Given the description of an element on the screen output the (x, y) to click on. 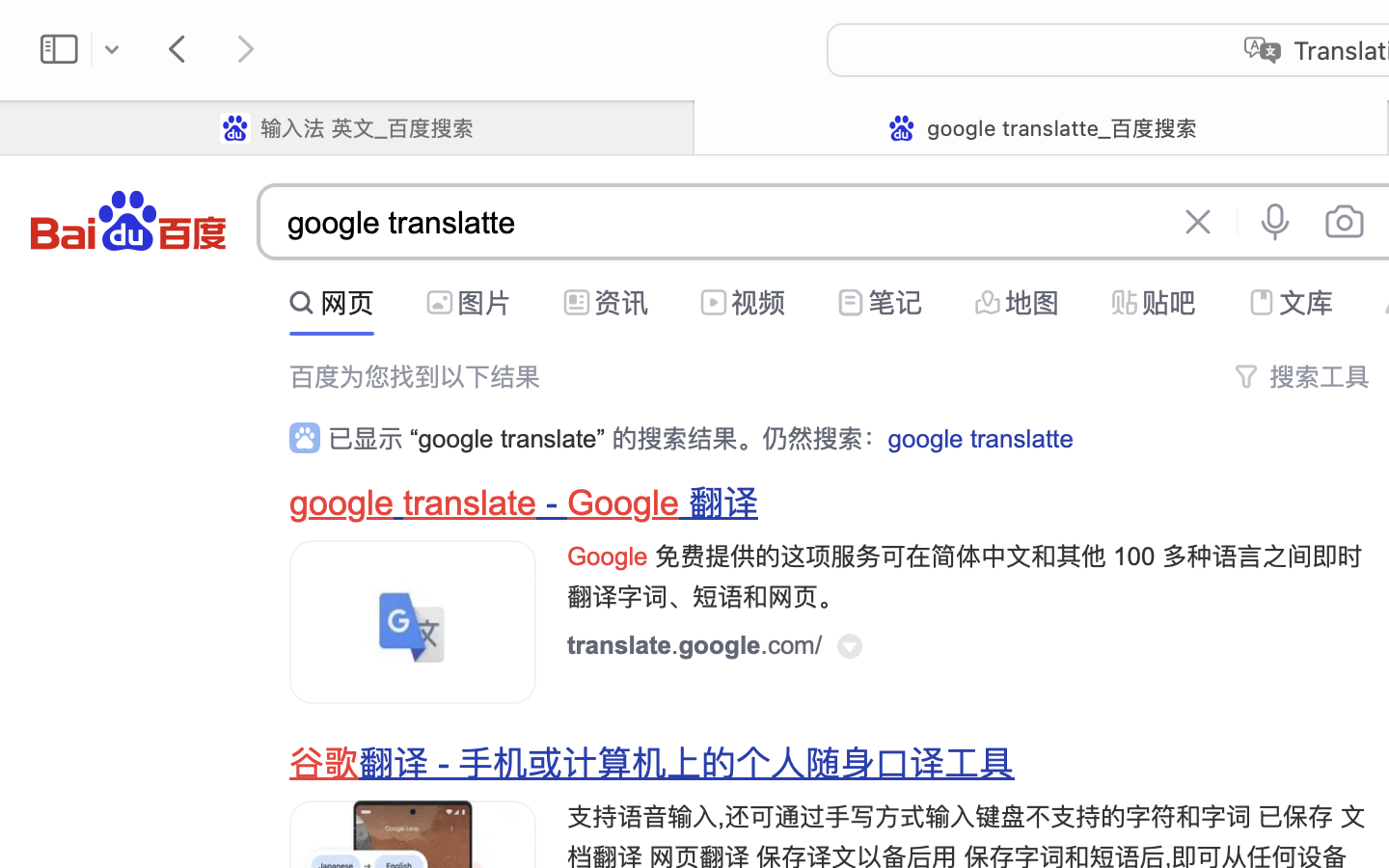
网页 Element type: AXStaticText (347, 302)
 Element type: AXStaticText (1245, 375)
“google translate” Element type: AXStaticText (506, 438)
Google Element type: AXStaticText (623, 503)
- Element type: AXStaticText (552, 503)
